Given the description of an element on the screen output the (x, y) to click on. 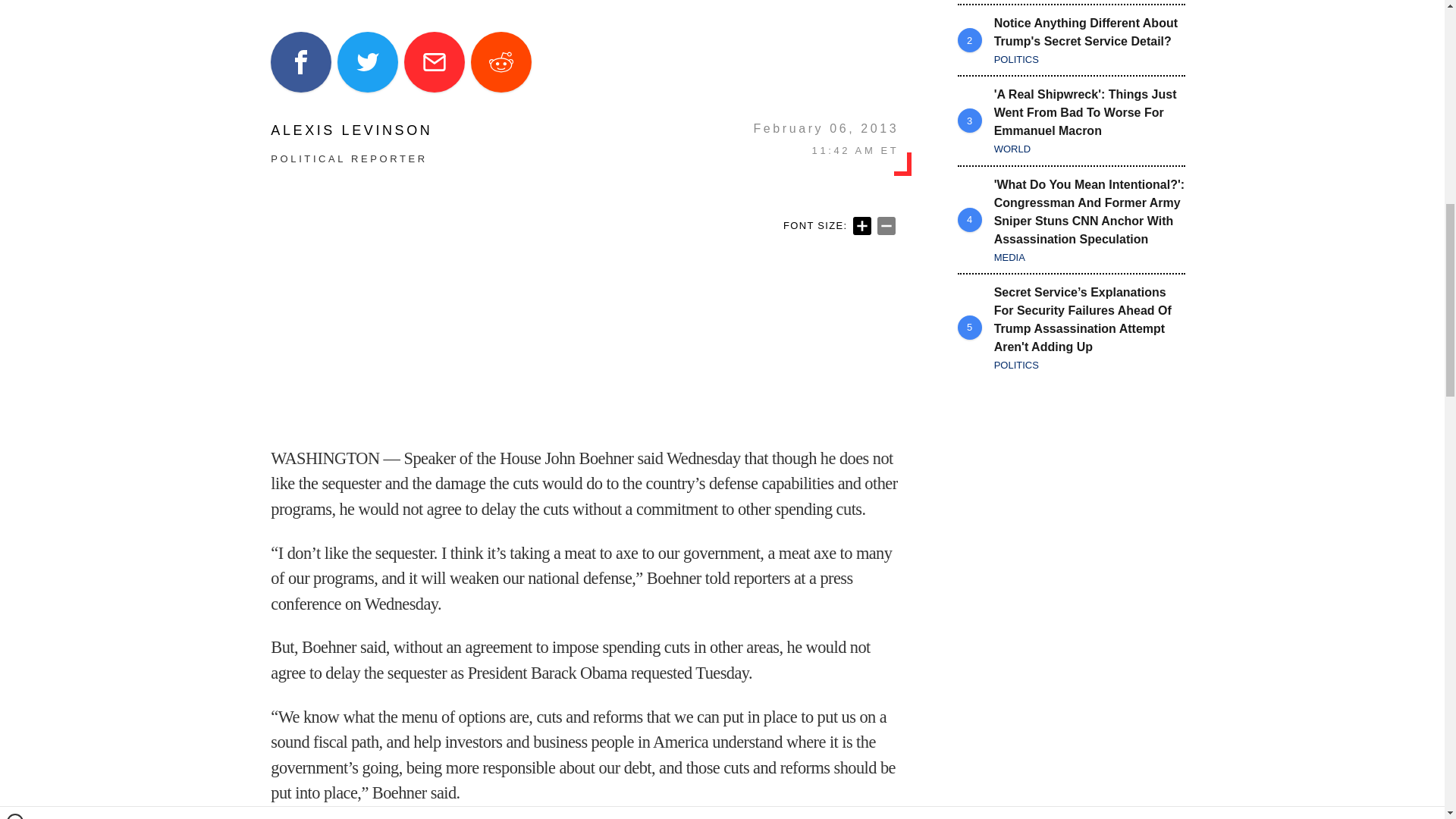
View More Articles By Alexis Levinson (351, 130)
ALEXIS LEVINSON (351, 130)
Close window (14, 6)
